Given the description of an element on the screen output the (x, y) to click on. 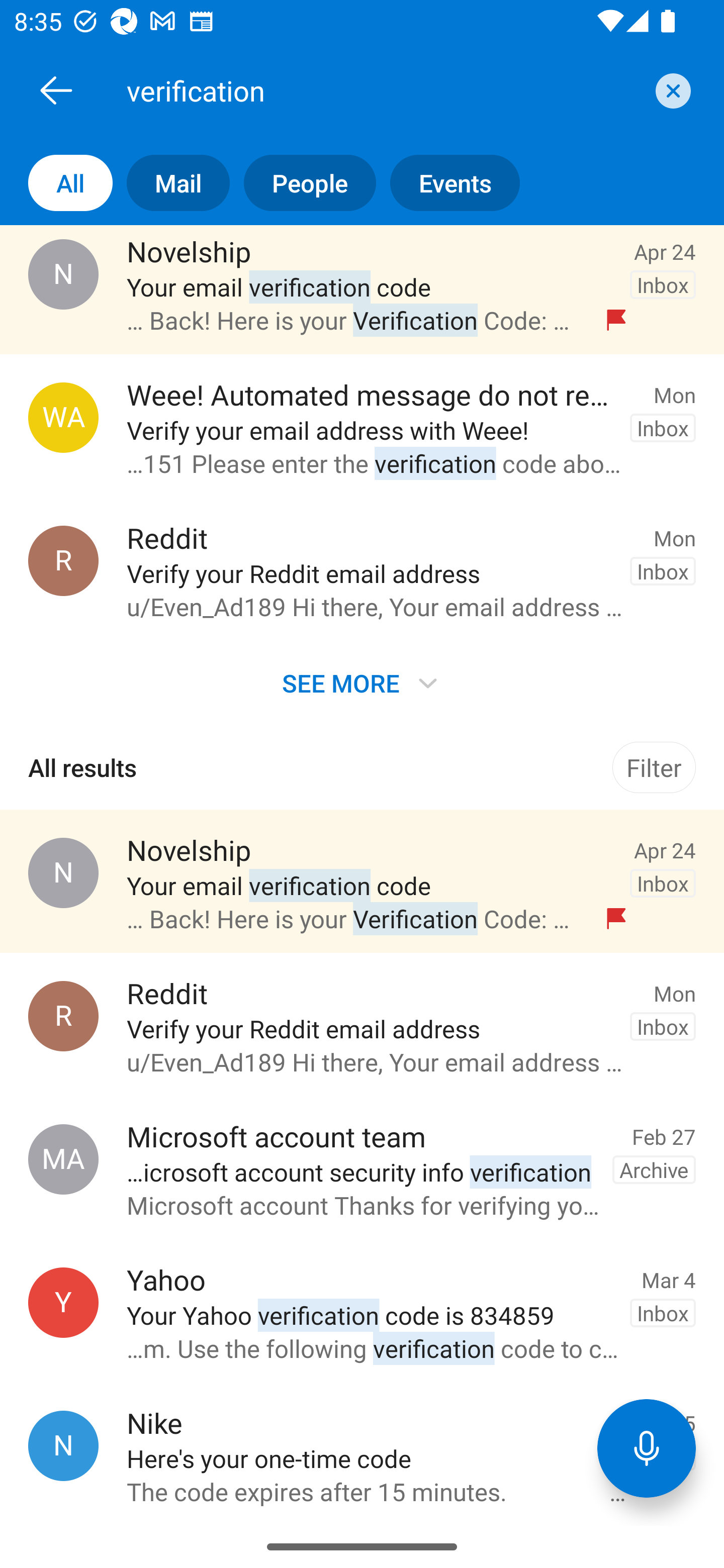
Back (55, 89)
verification (384, 89)
clear search (670, 90)
Mail (170, 183)
People (302, 183)
Events (447, 183)
SEE MORE See More (362, 682)
Filter (653, 767)
Voice Assistant (646, 1447)
